Given the description of an element on the screen output the (x, y) to click on. 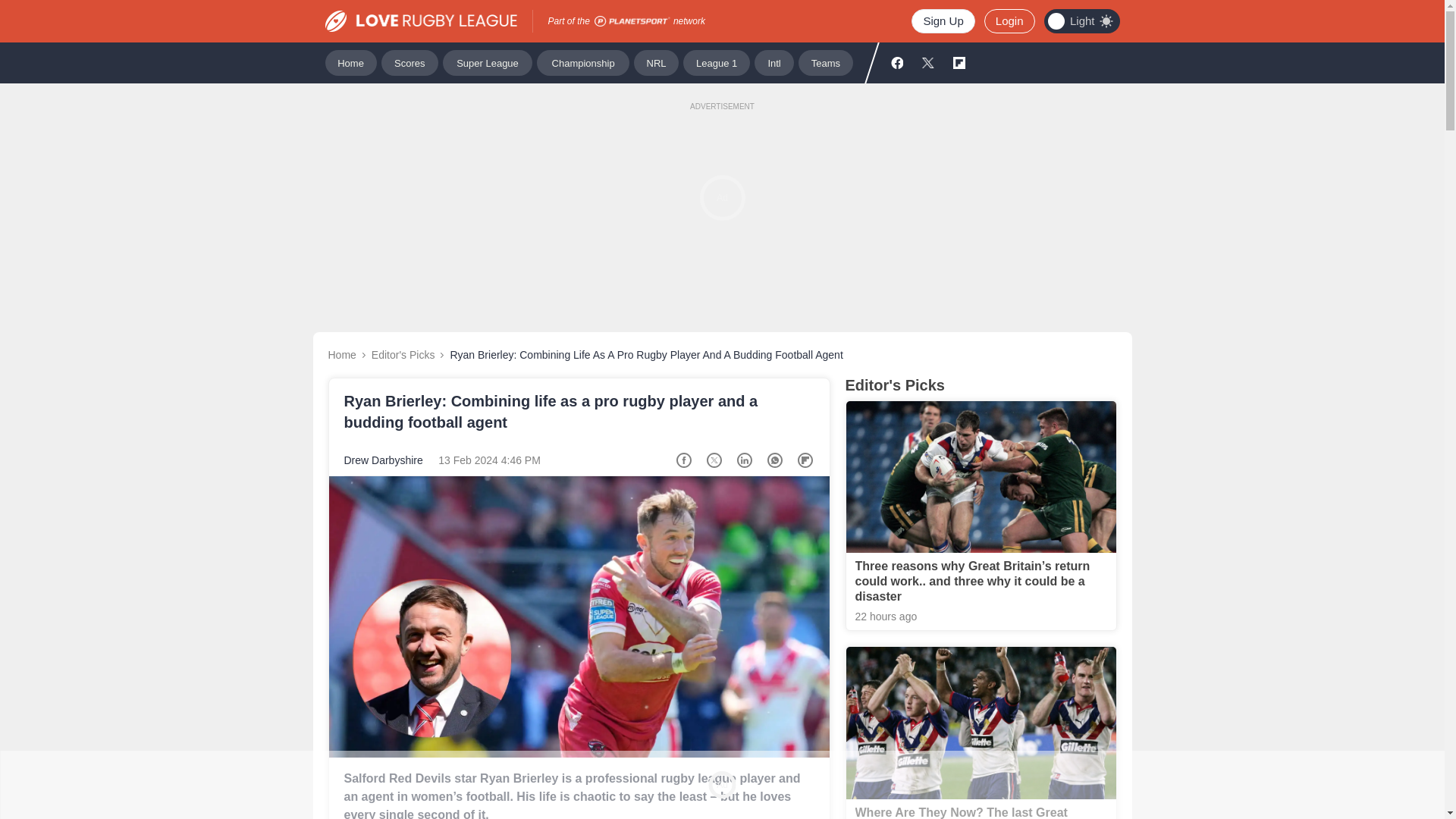
Home (341, 354)
Home (349, 62)
Sign Up (942, 21)
Editor's Picks (403, 354)
Drew Darbyshire (383, 460)
Teams (825, 62)
League 1 (715, 62)
NRL (655, 62)
Championship (582, 62)
Scores (409, 62)
Super League (487, 62)
Login (1009, 21)
Intl (773, 62)
